Given the description of an element on the screen output the (x, y) to click on. 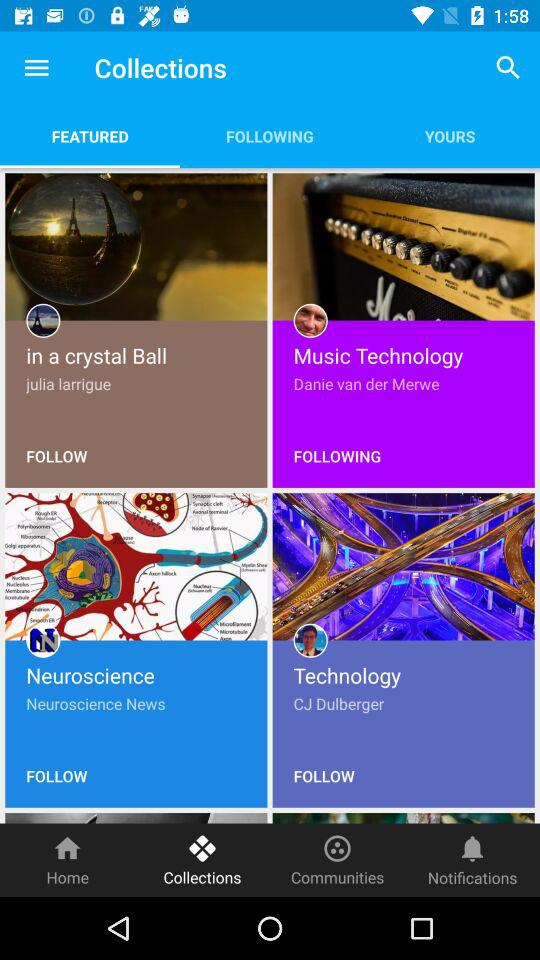
click the icon above featured icon (36, 67)
